Given the description of an element on the screen output the (x, y) to click on. 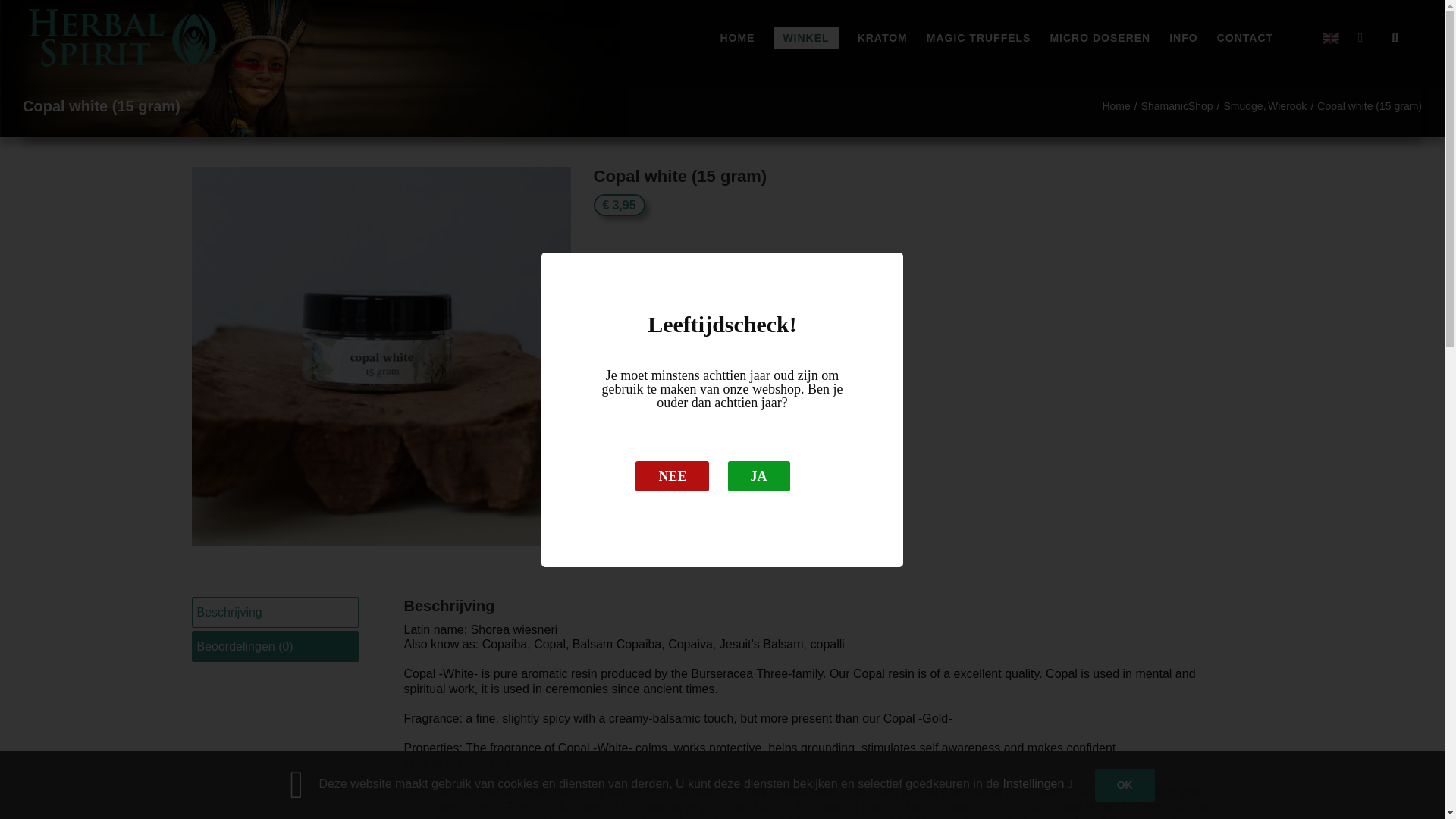
- (609, 284)
1 (639, 284)
